Given the description of an element on the screen output the (x, y) to click on. 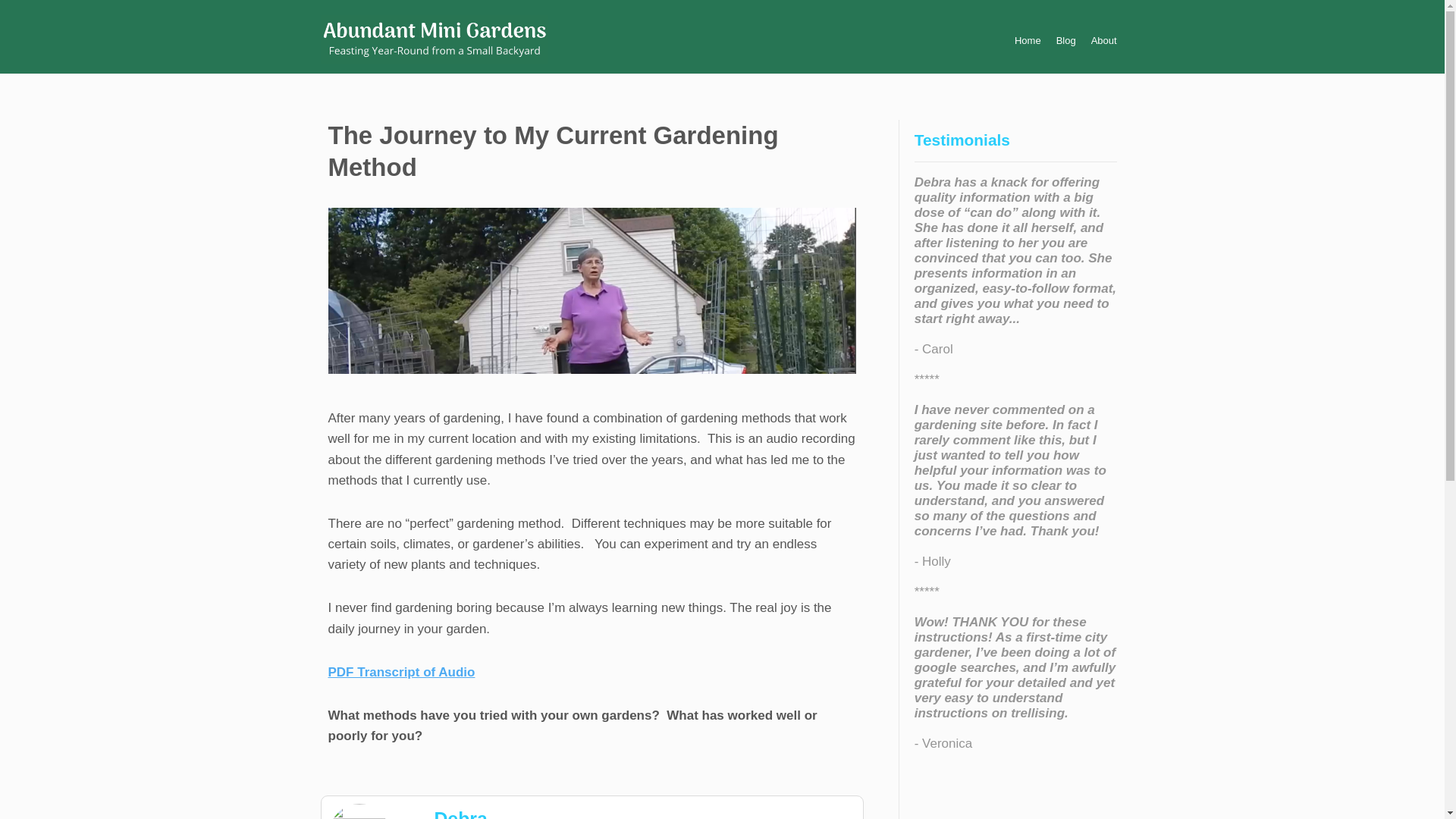
PDF Transcript of Audio (400, 672)
About (1103, 40)
Blog (1066, 40)
Home (1027, 40)
